Given the description of an element on the screen output the (x, y) to click on. 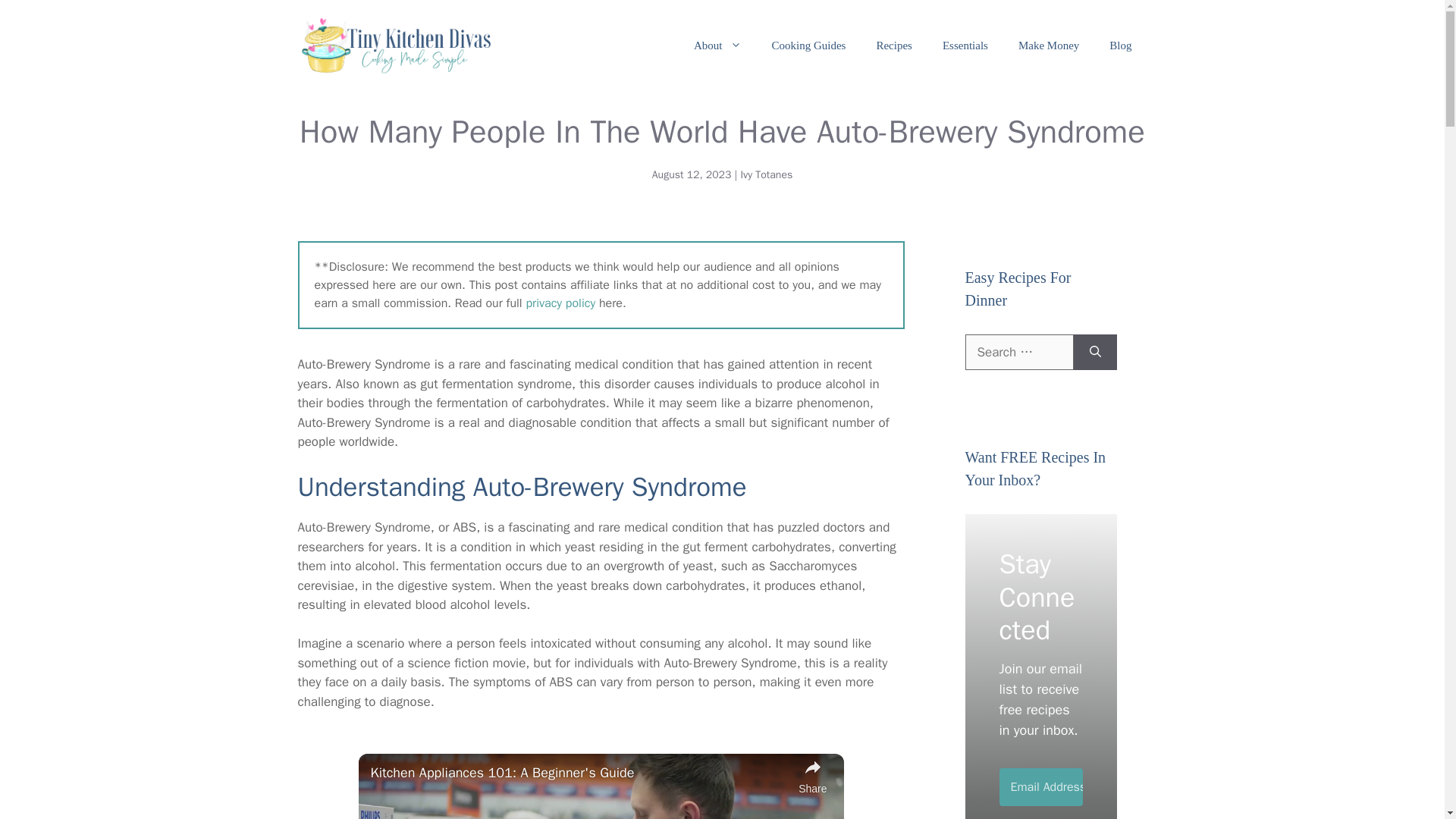
Search for: (1018, 352)
Make Money (1048, 44)
About (717, 44)
Blog (1120, 44)
Essentials (965, 44)
Ivy Totanes (765, 174)
Recipes (893, 44)
Cooking Guides (809, 44)
View all posts by Ivy Totanes (765, 174)
privacy policy (560, 303)
Kitchen Appliances 101: A Beginner's Guide (579, 772)
